Given the description of an element on the screen output the (x, y) to click on. 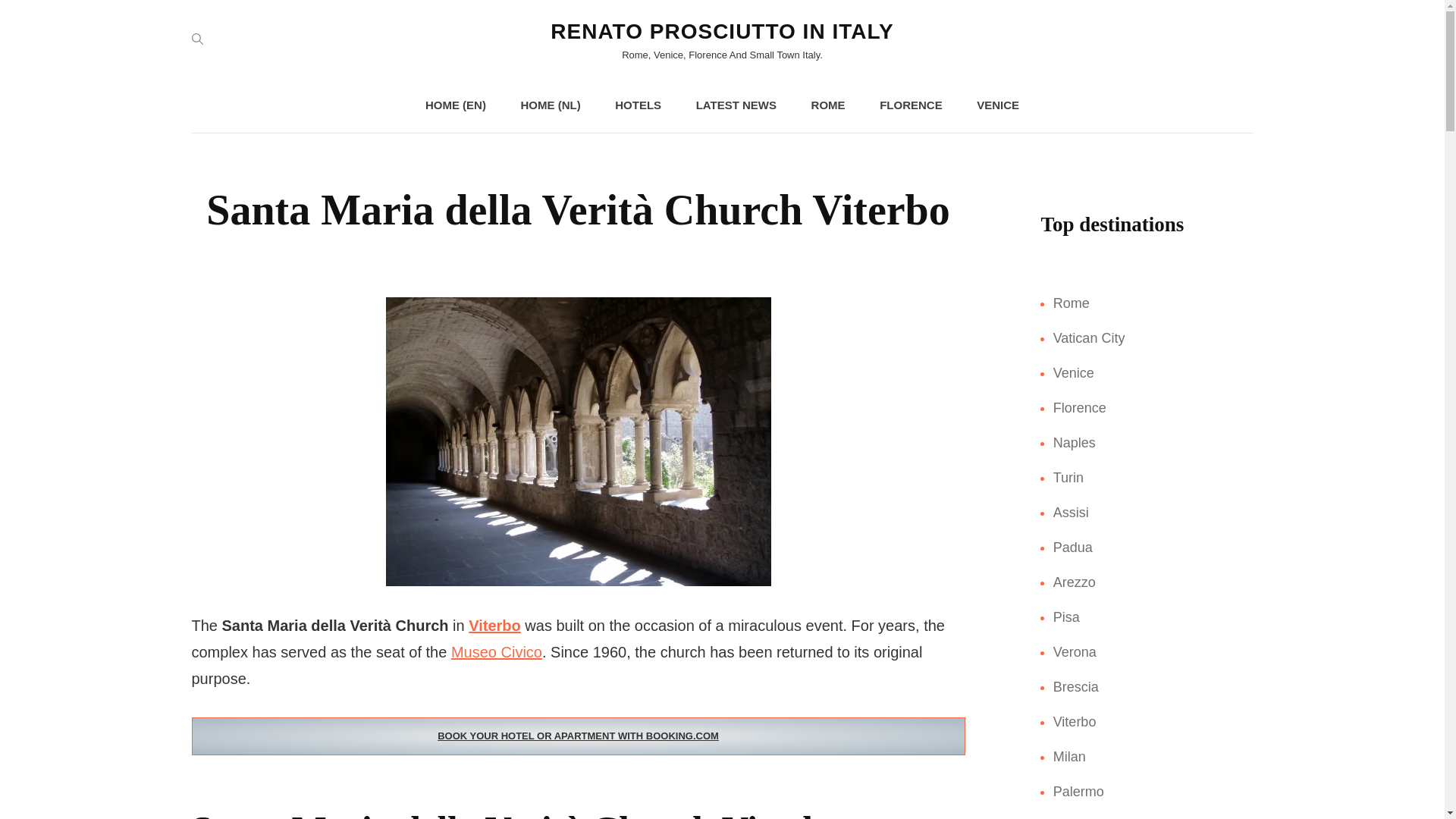
ROME (828, 104)
LATEST NEWS (736, 104)
Viterbo (494, 625)
RENATO PROSCIUTTO IN ITALY (721, 31)
HOTELS (638, 104)
VENICE (996, 104)
Museo Civico (496, 651)
FLORENCE (911, 104)
BOOK YOUR HOTEL OR APARTMENT WITH BOOKING.COM (576, 736)
